Given the description of an element on the screen output the (x, y) to click on. 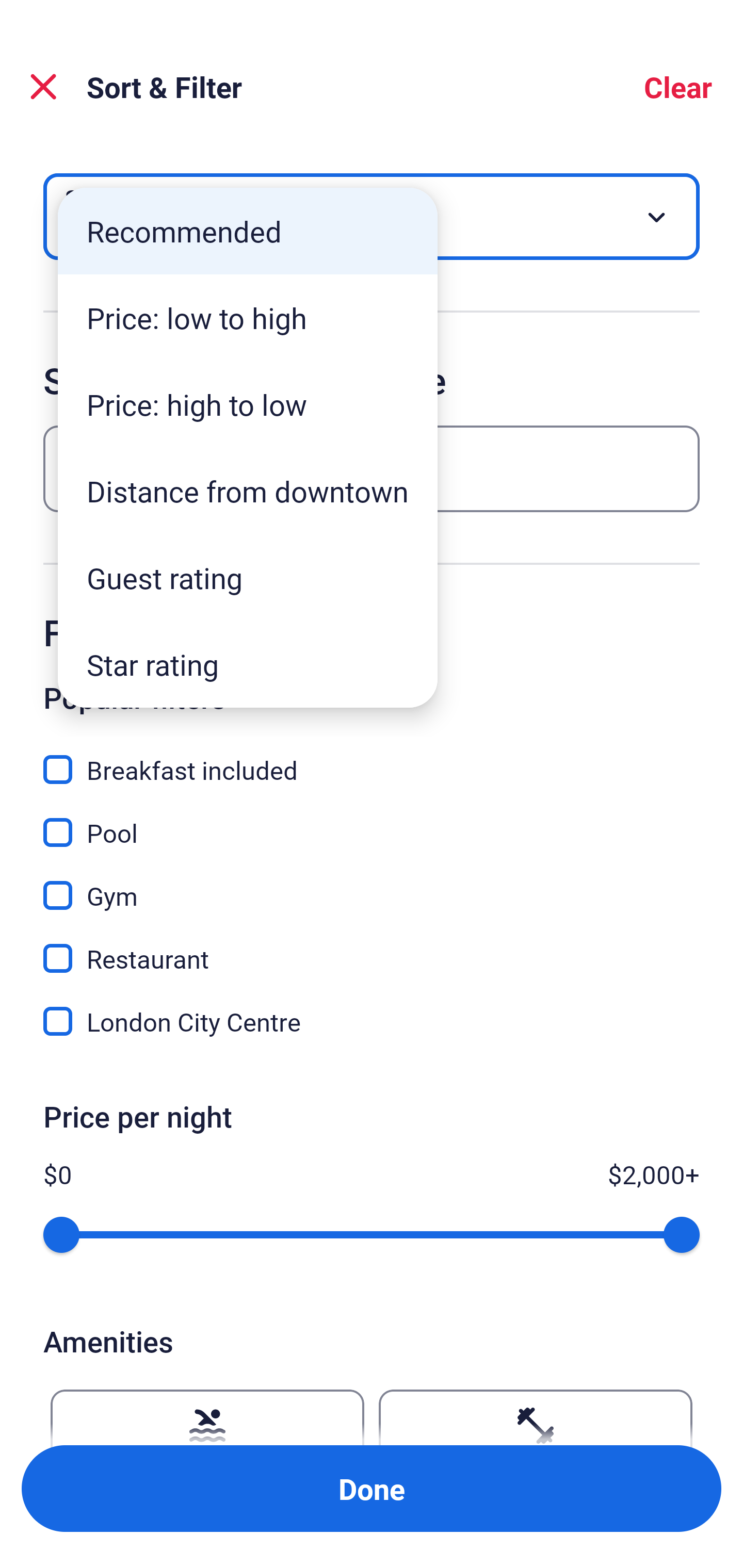
Price: low to high (247, 317)
Price: high to low (247, 404)
Distance from downtown (247, 491)
Guest rating (247, 577)
Star rating (247, 663)
